Given the description of an element on the screen output the (x, y) to click on. 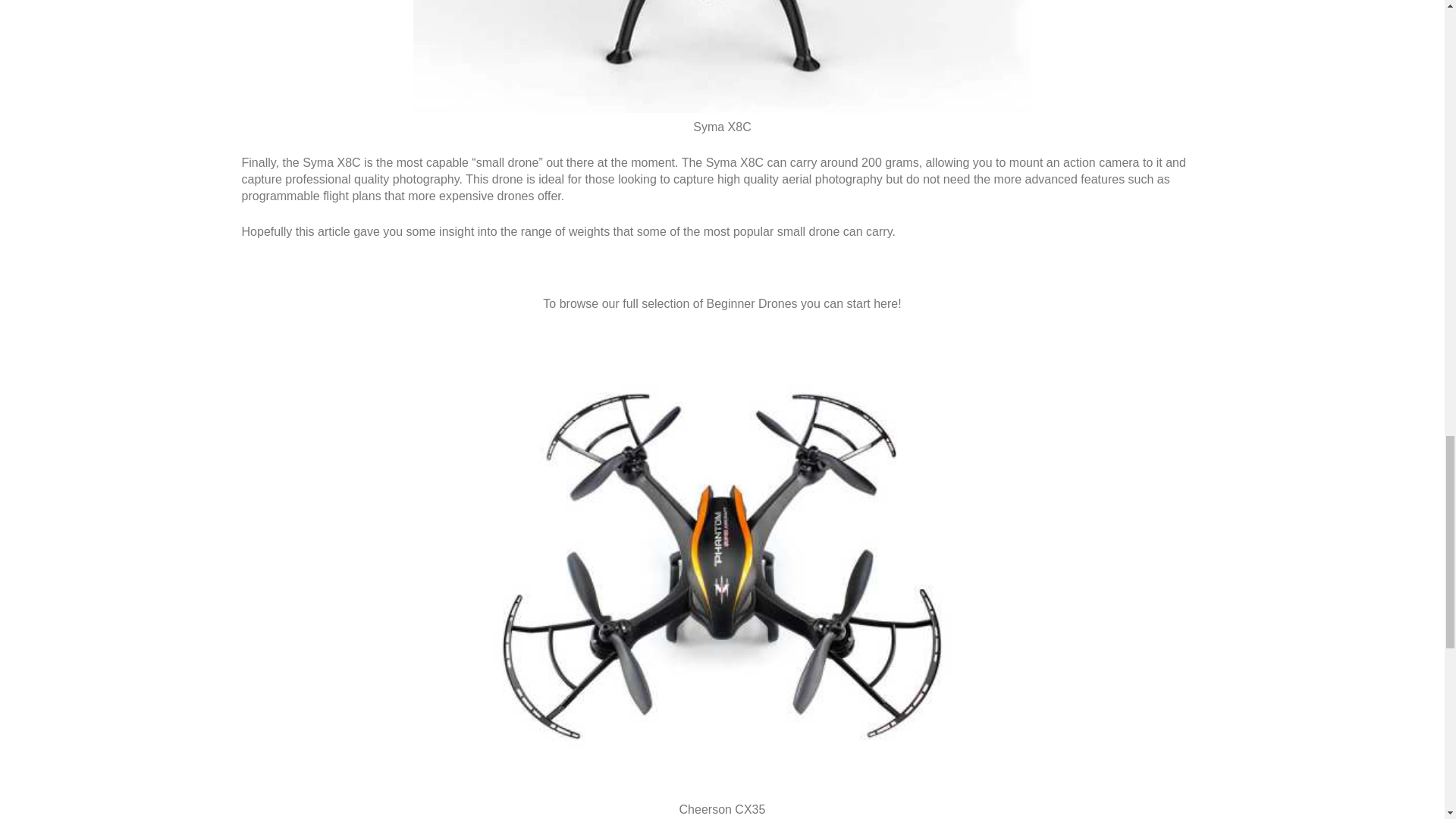
Syma X8C (721, 56)
